Given the description of an element on the screen output the (x, y) to click on. 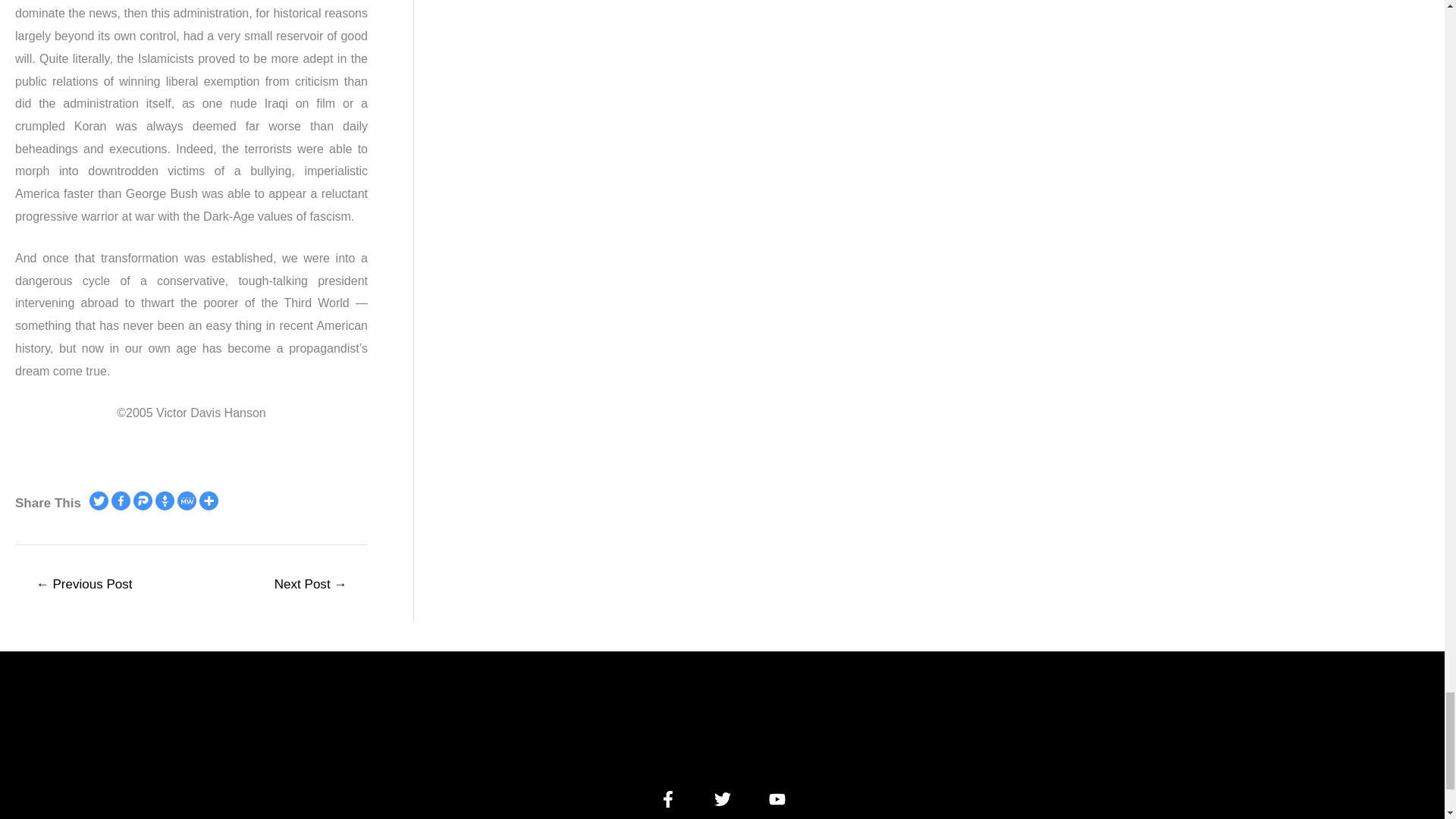
Gettr (164, 500)
Parler (142, 500)
More (208, 500)
Facebook (121, 500)
MeWe (186, 500)
Twitter (97, 500)
